Given the description of an element on the screen output the (x, y) to click on. 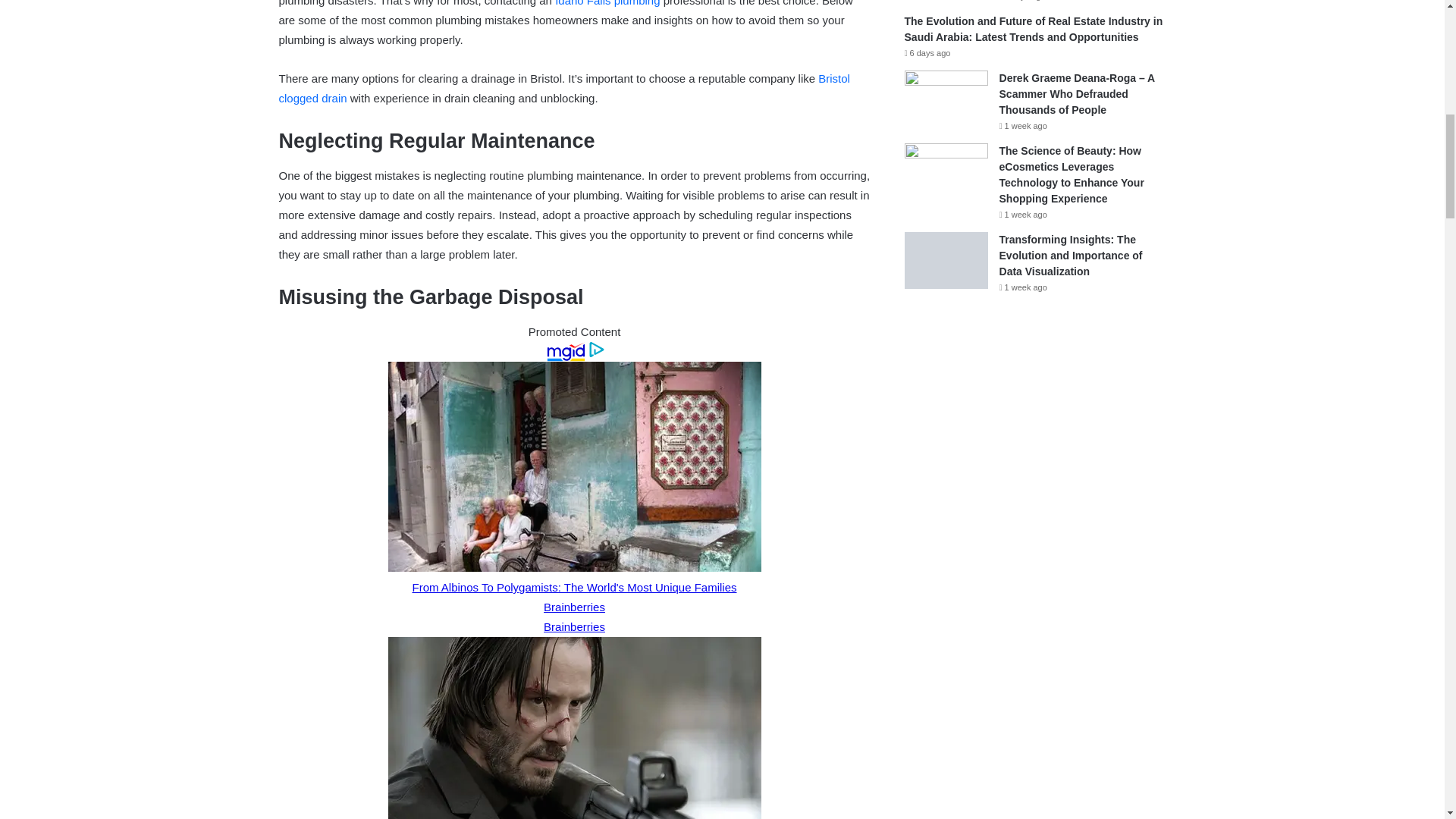
Bristol clogged drain (564, 88)
Idaho Falls plumbing (606, 3)
